Given the description of an element on the screen output the (x, y) to click on. 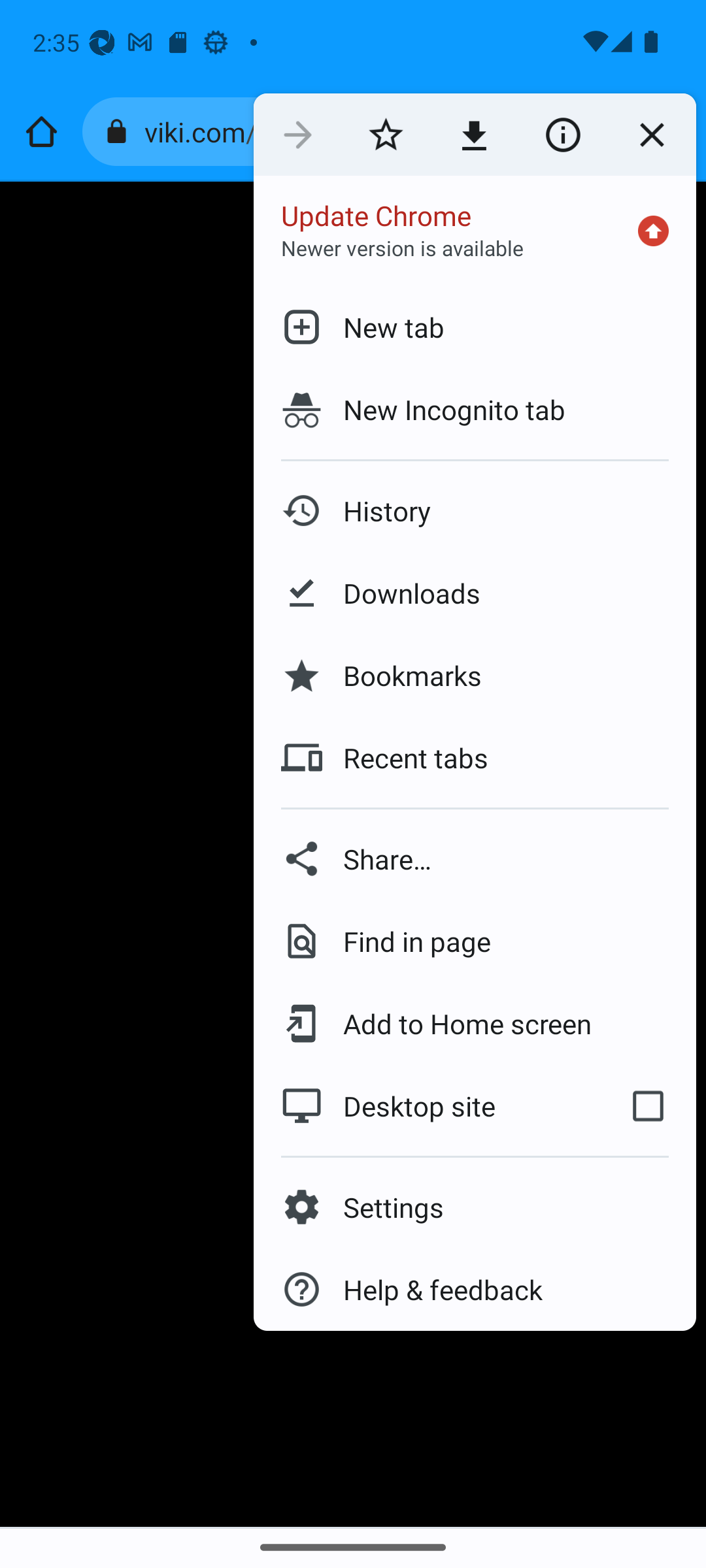
Forward (297, 134)
Bookmark (385, 134)
Download (473, 134)
Page info (562, 134)
Stop refreshing (651, 134)
New tab (474, 326)
New Incognito tab (474, 409)
History (474, 510)
Downloads (474, 593)
Bookmarks (474, 675)
Recent tabs (474, 757)
Share… (474, 859)
Find in page (474, 941)
Add to Home screen (474, 1023)
Desktop site Turn on Request desktop site (426, 1105)
Settings (474, 1207)
Help & feedback (474, 1289)
